Given the description of an element on the screen output the (x, y) to click on. 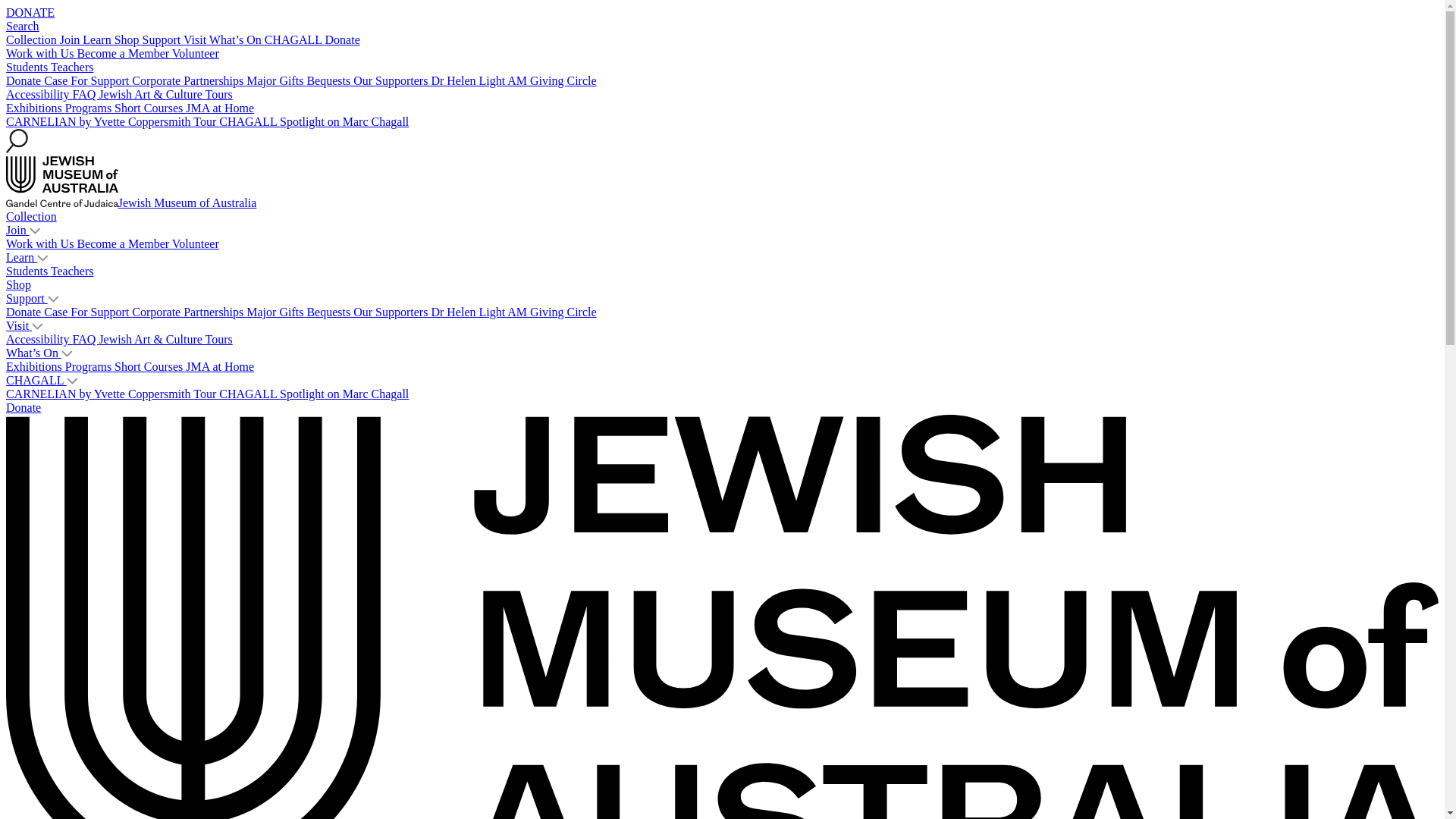
Corporate Partnerships Element type: text (188, 80)
Learn Element type: text (97, 39)
Become a Member Element type: text (123, 53)
Spotlight on Marc Chagall Element type: text (343, 121)
Programs Element type: text (89, 366)
Jewish Art & Culture Tours Element type: text (165, 338)
Teachers Element type: text (72, 270)
Exhibitions Element type: text (35, 366)
Jewish Museum of Australia Element type: text (131, 202)
Jewish Art & Culture Tours Element type: text (165, 93)
Short Courses Element type: text (149, 366)
Collection Element type: text (31, 216)
Become a Member Element type: text (123, 243)
CARNELIAN by Yvette Coppersmith Element type: text (99, 393)
Major Gifts Element type: text (276, 311)
FAQ Element type: text (85, 338)
JMA at Home Element type: text (219, 366)
Support Element type: text (162, 39)
CHAGALL Element type: text (36, 379)
Our Supporters Element type: text (391, 80)
Accessibility Element type: text (39, 93)
Join Element type: text (71, 39)
Visit Element type: text (196, 39)
FAQ Element type: text (85, 93)
Corporate Partnerships Element type: text (188, 311)
Bequests Element type: text (329, 80)
Donate Element type: text (24, 311)
Programs Element type: text (89, 107)
Shop Element type: text (18, 284)
CARNELIAN by Yvette Coppersmith Element type: text (99, 121)
Exhibitions Element type: text (35, 107)
Donate Element type: text (342, 39)
Case For Support Element type: text (87, 80)
Short Courses Element type: text (149, 107)
Our Supporters Element type: text (391, 311)
Tour CHAGALL Element type: text (236, 121)
Dr Helen Light AM Giving Circle Element type: text (513, 80)
Support Element type: text (26, 297)
Case For Support Element type: text (87, 311)
Tour CHAGALL Element type: text (236, 393)
Spotlight on Marc Chagall Element type: text (343, 393)
Teachers Element type: text (72, 66)
Volunteer Element type: text (195, 243)
Donate Element type: text (24, 80)
Dr Helen Light AM Giving Circle Element type: text (513, 311)
Donate Element type: text (23, 407)
Join Element type: text (17, 229)
Visit Element type: text (18, 325)
Learn Element type: text (21, 257)
Bequests Element type: text (329, 311)
Work with Us Element type: text (41, 53)
Major Gifts Element type: text (276, 80)
CHAGALL Element type: text (294, 39)
Shop Element type: text (128, 39)
Search Element type: text (22, 25)
Accessibility Element type: text (39, 338)
Volunteer Element type: text (195, 53)
Work with Us Element type: text (41, 243)
DONATE Element type: text (30, 12)
Collection Element type: text (32, 39)
Students Element type: text (28, 270)
Students Element type: text (28, 66)
JMA at Home Element type: text (219, 107)
